Given the description of an element on the screen output the (x, y) to click on. 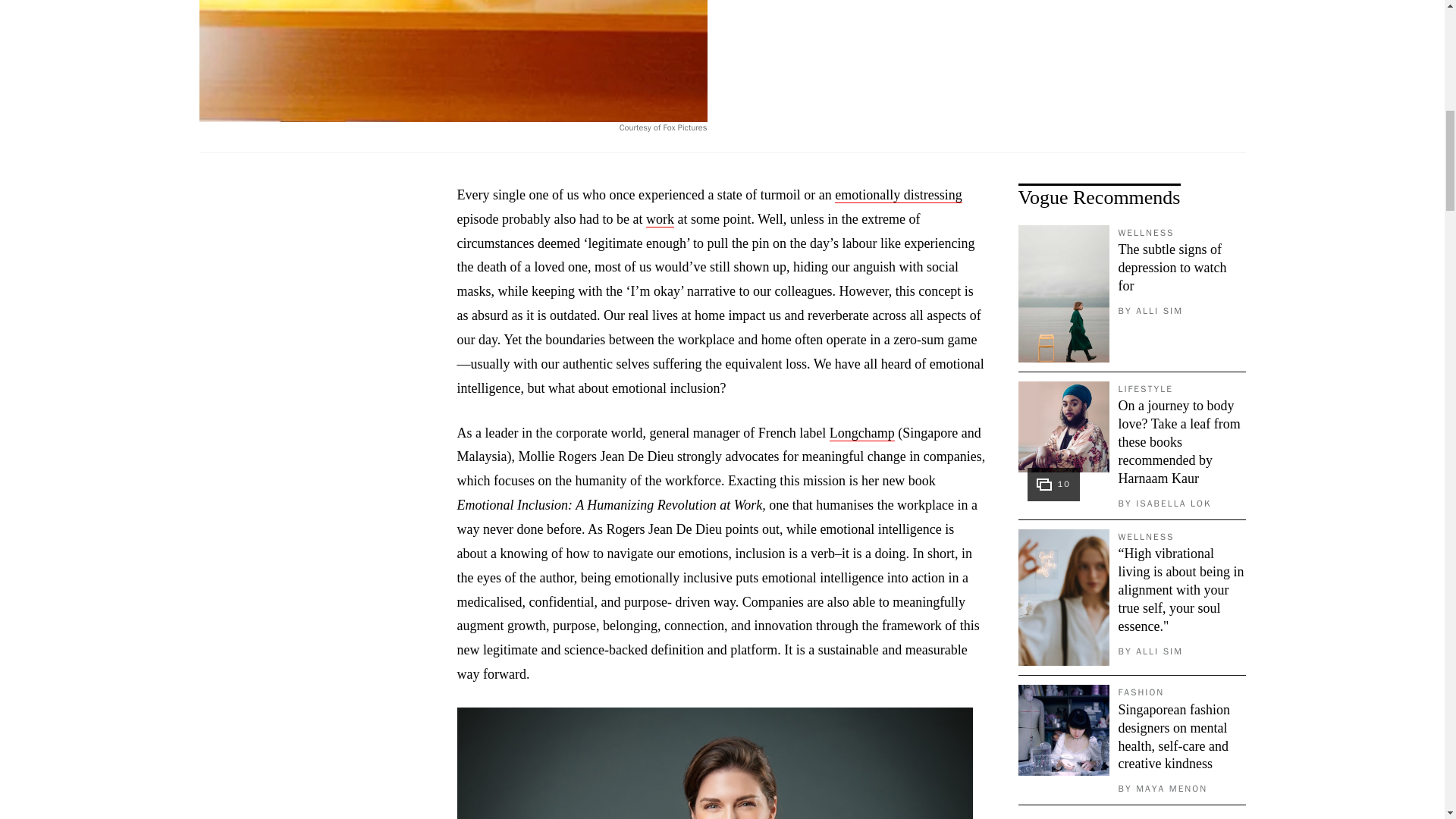
The subtle signs of depression to watch for (1171, 267)
work (660, 219)
WELLNESS (1145, 232)
emotionally distressing (897, 195)
Longchamp (862, 433)
